Given the description of an element on the screen output the (x, y) to click on. 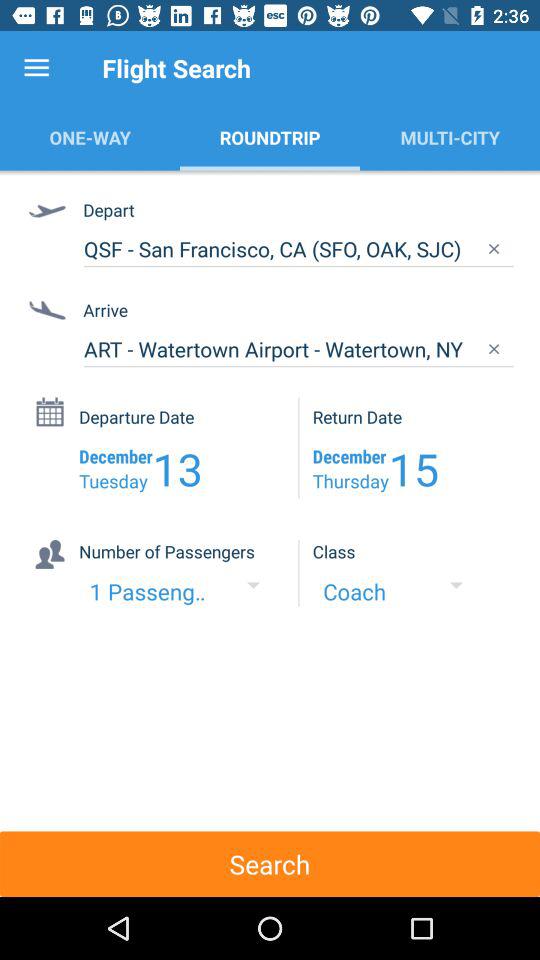
go to the icon beside departure date (50, 418)
click on the drop down of the text 1 passenger (181, 584)
select arrive icon which is before arrive on the page (49, 311)
